Given the description of an element on the screen output the (x, y) to click on. 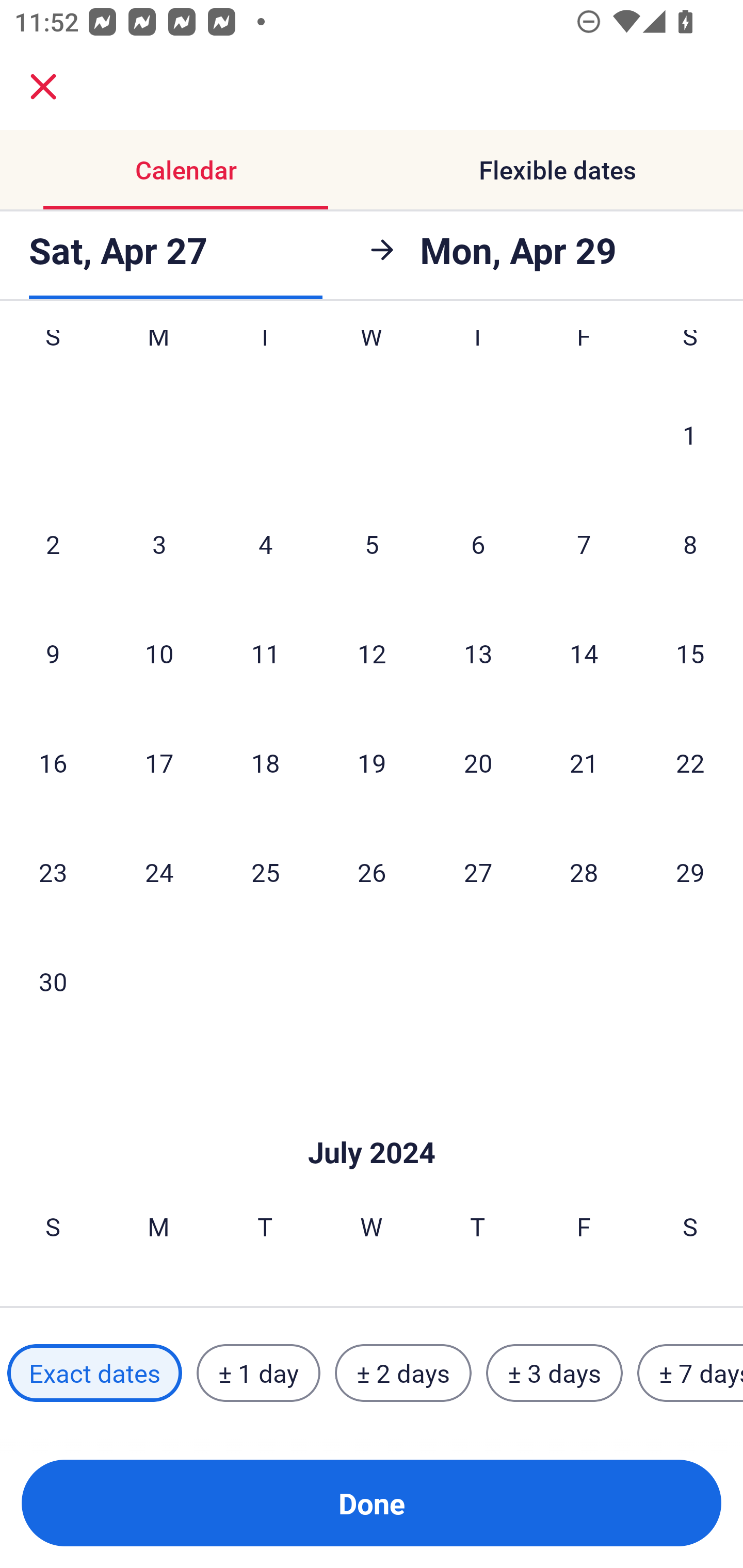
close. (43, 86)
Flexible dates (557, 170)
1 Saturday, June 1, 2024 (689, 434)
2 Sunday, June 2, 2024 (53, 543)
3 Monday, June 3, 2024 (159, 543)
4 Tuesday, June 4, 2024 (265, 543)
5 Wednesday, June 5, 2024 (371, 543)
6 Thursday, June 6, 2024 (477, 543)
7 Friday, June 7, 2024 (584, 543)
8 Saturday, June 8, 2024 (690, 543)
9 Sunday, June 9, 2024 (53, 652)
10 Monday, June 10, 2024 (159, 652)
11 Tuesday, June 11, 2024 (265, 652)
12 Wednesday, June 12, 2024 (371, 652)
13 Thursday, June 13, 2024 (477, 652)
14 Friday, June 14, 2024 (584, 652)
15 Saturday, June 15, 2024 (690, 652)
16 Sunday, June 16, 2024 (53, 762)
17 Monday, June 17, 2024 (159, 762)
18 Tuesday, June 18, 2024 (265, 762)
19 Wednesday, June 19, 2024 (371, 762)
20 Thursday, June 20, 2024 (477, 762)
21 Friday, June 21, 2024 (584, 762)
22 Saturday, June 22, 2024 (690, 762)
23 Sunday, June 23, 2024 (53, 871)
24 Monday, June 24, 2024 (159, 871)
25 Tuesday, June 25, 2024 (265, 871)
26 Wednesday, June 26, 2024 (371, 871)
27 Thursday, June 27, 2024 (477, 871)
28 Friday, June 28, 2024 (584, 871)
29 Saturday, June 29, 2024 (690, 871)
30 Sunday, June 30, 2024 (53, 981)
Skip to Done (371, 1121)
Exact dates (94, 1372)
± 1 day (258, 1372)
± 2 days (403, 1372)
± 3 days (553, 1372)
± 7 days (690, 1372)
Done (371, 1502)
